Given the description of an element on the screen output the (x, y) to click on. 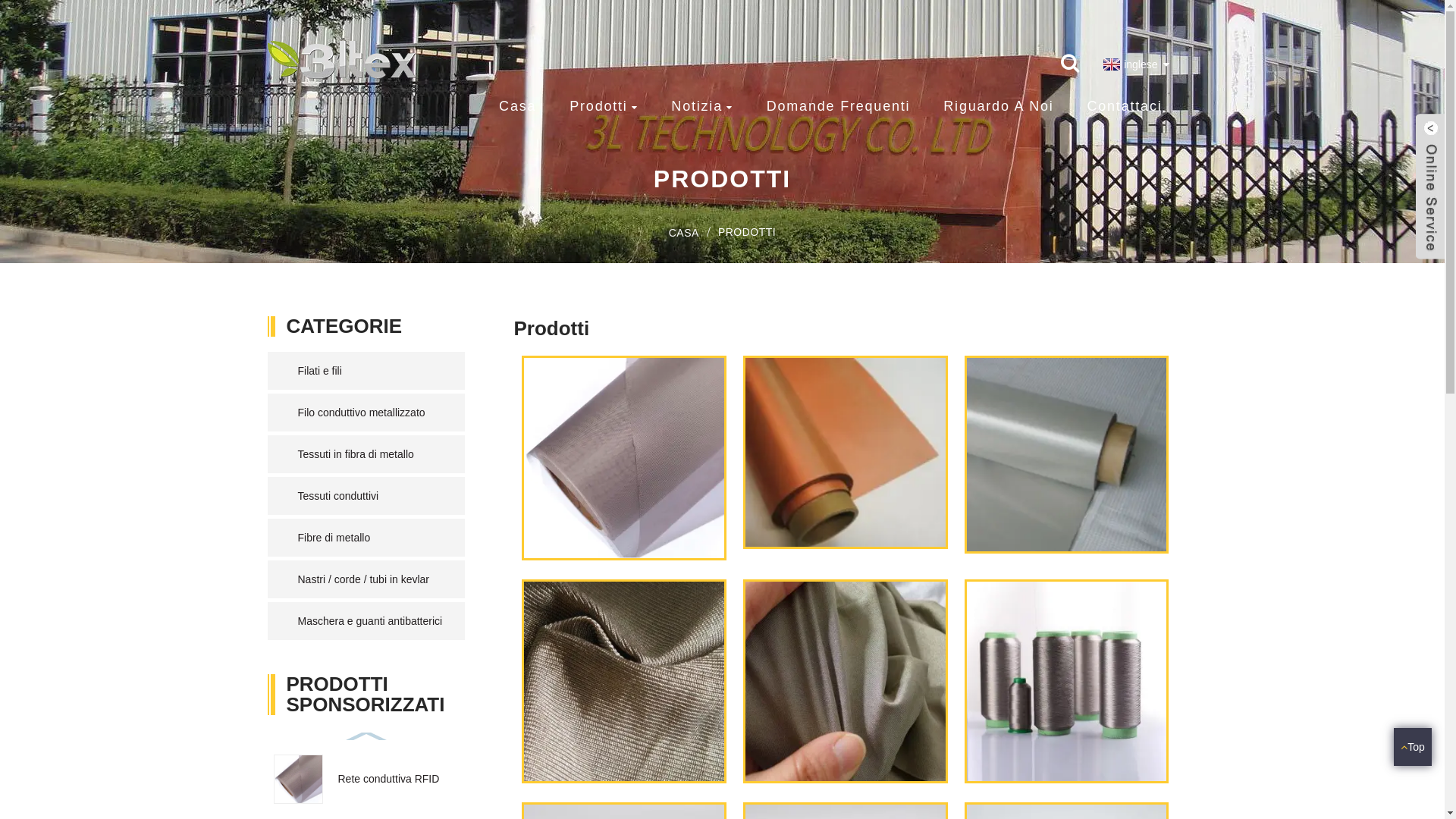
Riguardo A Noi Element type: text (998, 106)
Domande Frequenti Element type: text (838, 106)
CASA Element type: text (683, 232)
Filati e fili Element type: text (372, 370)
Contattaci Element type: text (1123, 106)
Silver coated polyamide conductive yarn Element type: hover (1066, 680)
inglese Element type: text (1128, 64)
Fibre di metallo Element type: text (372, 537)
Maschera e guanti antibatterici Element type: text (372, 621)
Filo conduttivo metallizzato Element type: text (372, 412)
Rete conduttiva RFID Element type: text (388, 778)
Prodotti Element type: text (603, 106)
Casa Element type: text (517, 106)
Polyester Taffeta Paint Copper Conductive Fabric Element type: hover (845, 451)
Tessuti conduttivi Element type: text (372, 495)
Silver coated spandex conductive/shielding fabric Element type: hover (845, 680)
Nastri / corde / tubi in kevlar Element type: text (372, 579)
Silver coated polyamide conductive/shielding fabric Element type: hover (624, 680)
RFID Conductive Mesh Element type: hover (624, 457)
Tessuti in fibra di metallo Element type: text (372, 454)
Copper and nickel Conductive Fabric Element type: hover (1066, 453)
Notizia Element type: text (701, 106)
PRODOTTI Element type: text (746, 231)
